Given the description of an element on the screen output the (x, y) to click on. 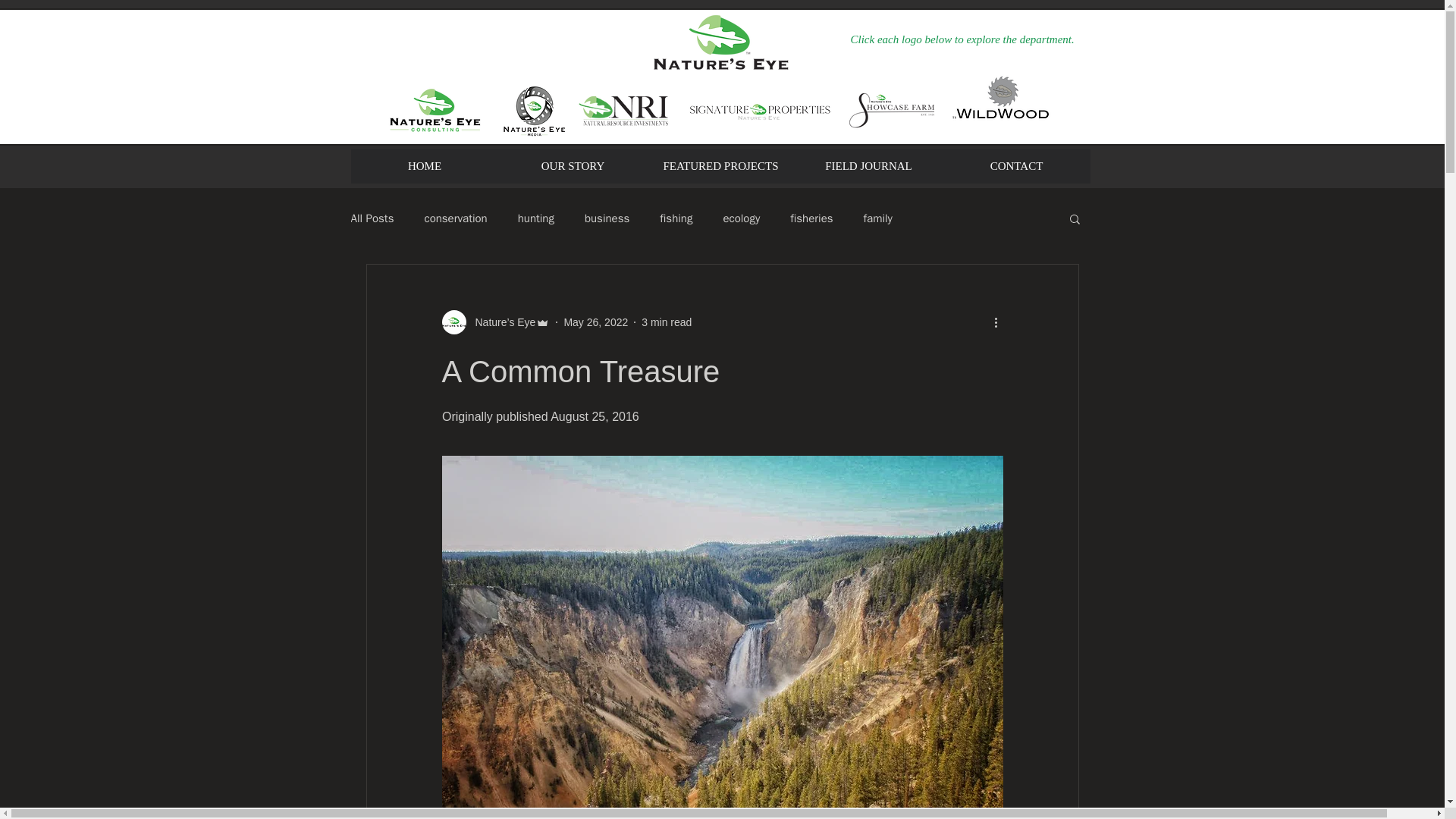
FIELD JOURNAL (868, 166)
All Posts (371, 217)
CONTACT (1015, 166)
family (877, 217)
conservation (454, 217)
fishing (676, 217)
fisheries (811, 217)
ecology (741, 217)
HOME (423, 166)
business (606, 217)
3 min read (666, 321)
OUR STORY (572, 166)
hunting (536, 217)
May 26, 2022 (595, 321)
FEATURED PROJECTS (719, 166)
